Given the description of an element on the screen output the (x, y) to click on. 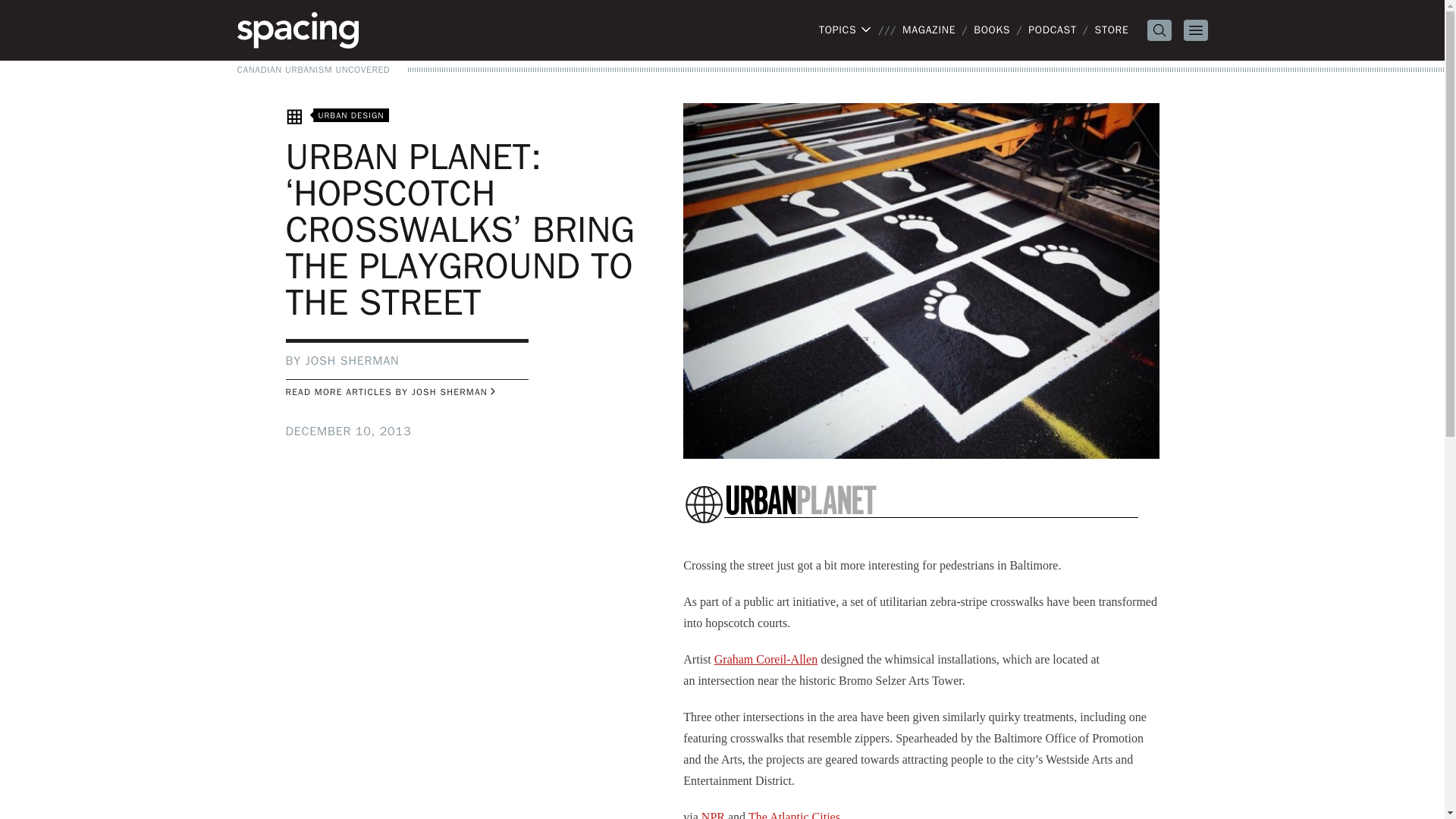
MAGAZINE (928, 29)
BOOKS (992, 29)
TOPICS (845, 29)
